Given the description of an element on the screen output the (x, y) to click on. 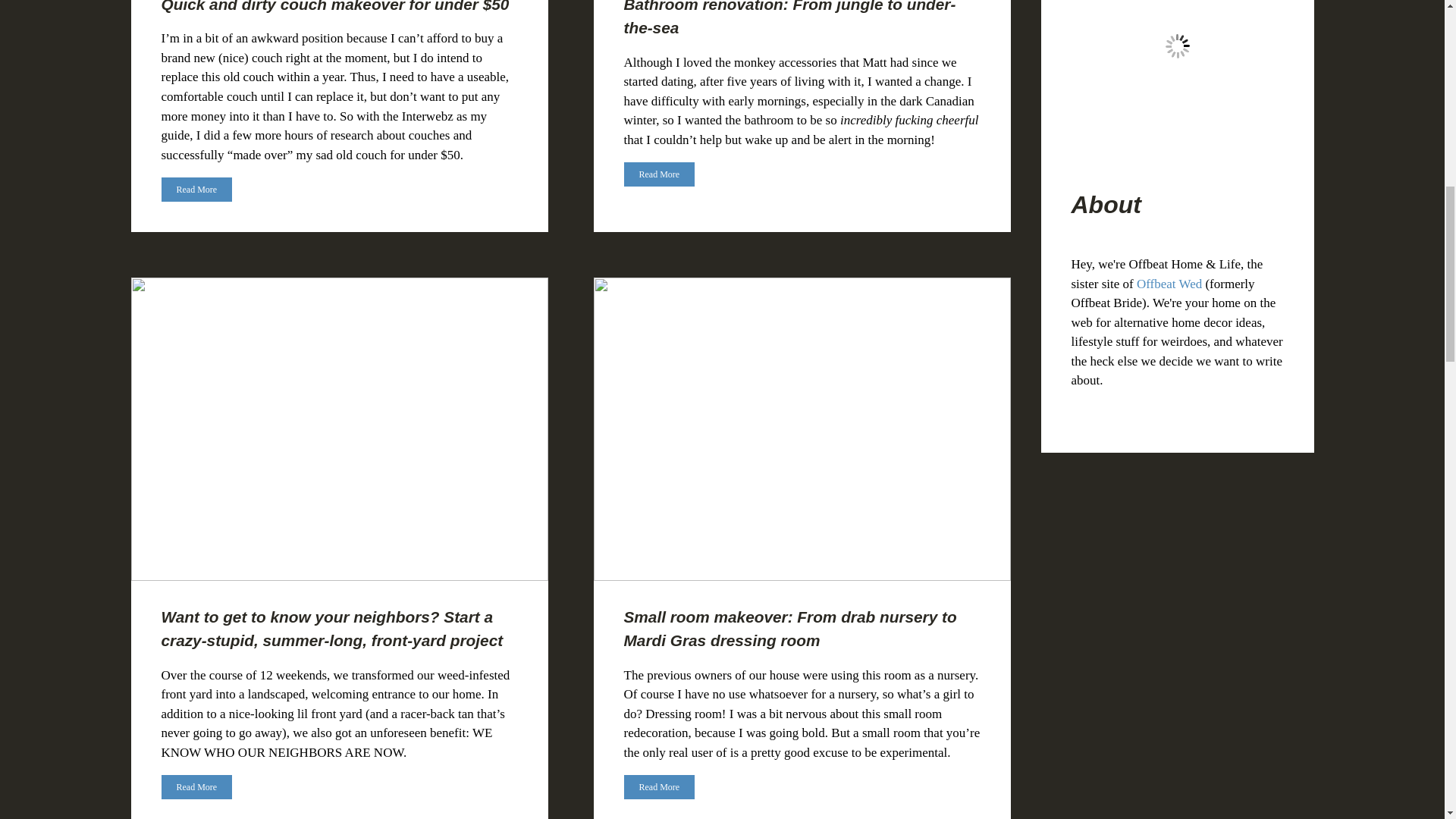
Read More (195, 187)
Bathroom renovation: From jungle to under-the-sea (789, 18)
Read More (195, 189)
Read More (658, 173)
Read More (658, 174)
